Given the description of an element on the screen output the (x, y) to click on. 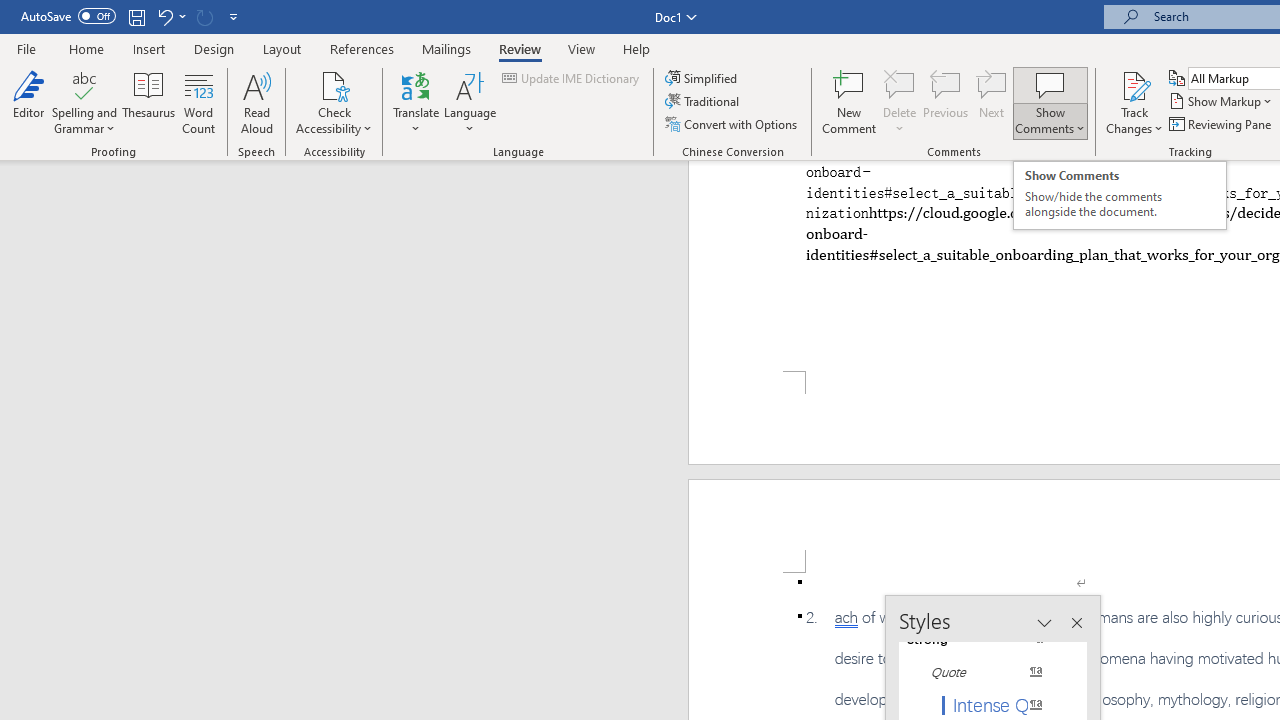
Traditional (703, 101)
Show Markup (1222, 101)
Undo Paste (164, 15)
Can't Repeat (204, 15)
Previous (946, 102)
Spelling and Grammar (84, 84)
